Given the description of an element on the screen output the (x, y) to click on. 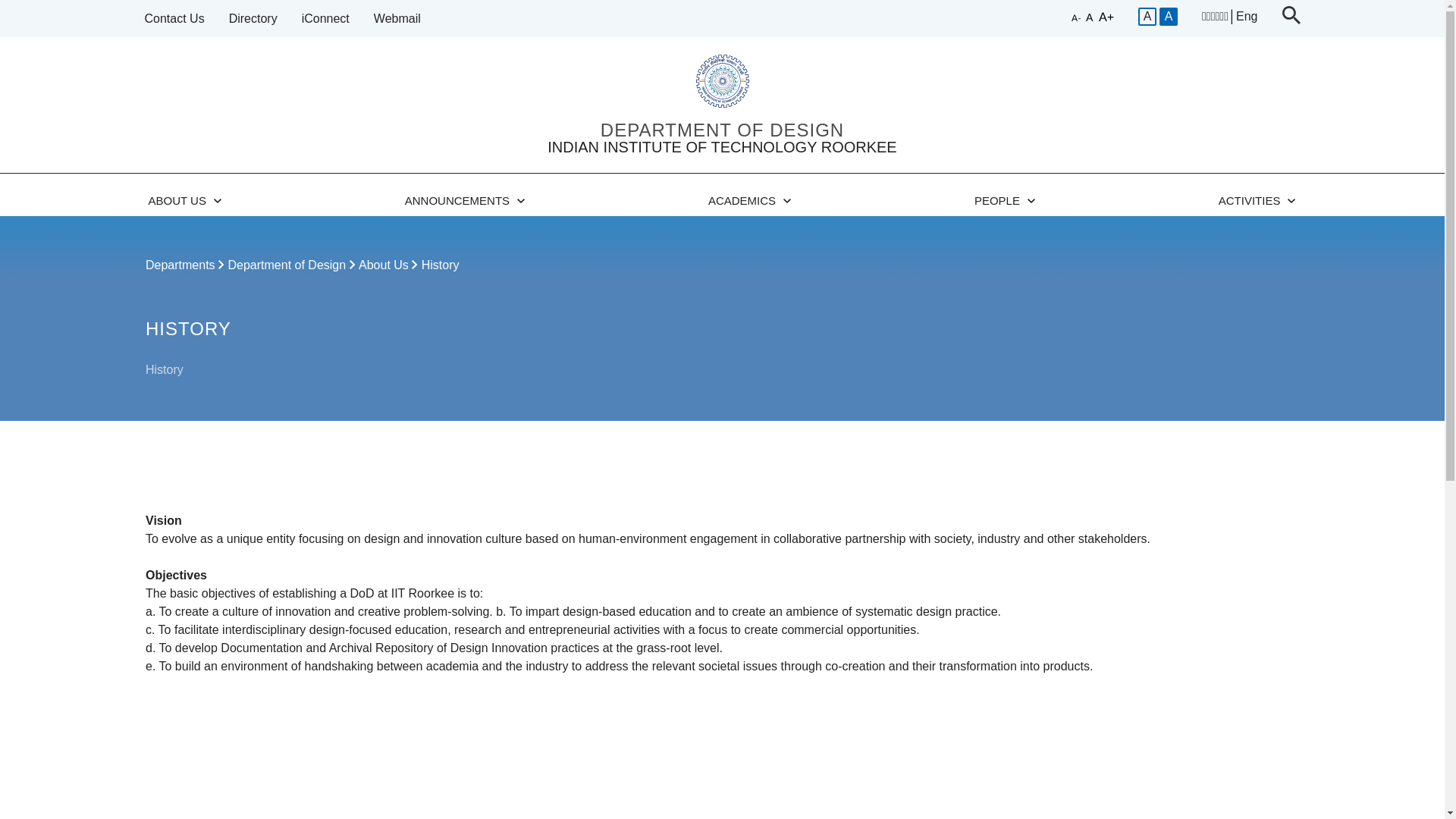
Directory (722, 144)
Webmail (253, 19)
Eng (397, 19)
Contact Us (1246, 16)
Department of Design (173, 19)
History (288, 264)
ANNOUNCEMENTS (441, 264)
ACTIVITIES (465, 200)
PEOPLE (1257, 200)
ACADEMICS (1005, 200)
ABOUT US (749, 200)
Departments (184, 200)
iConnect (181, 264)
About Us (325, 19)
